Given the description of an element on the screen output the (x, y) to click on. 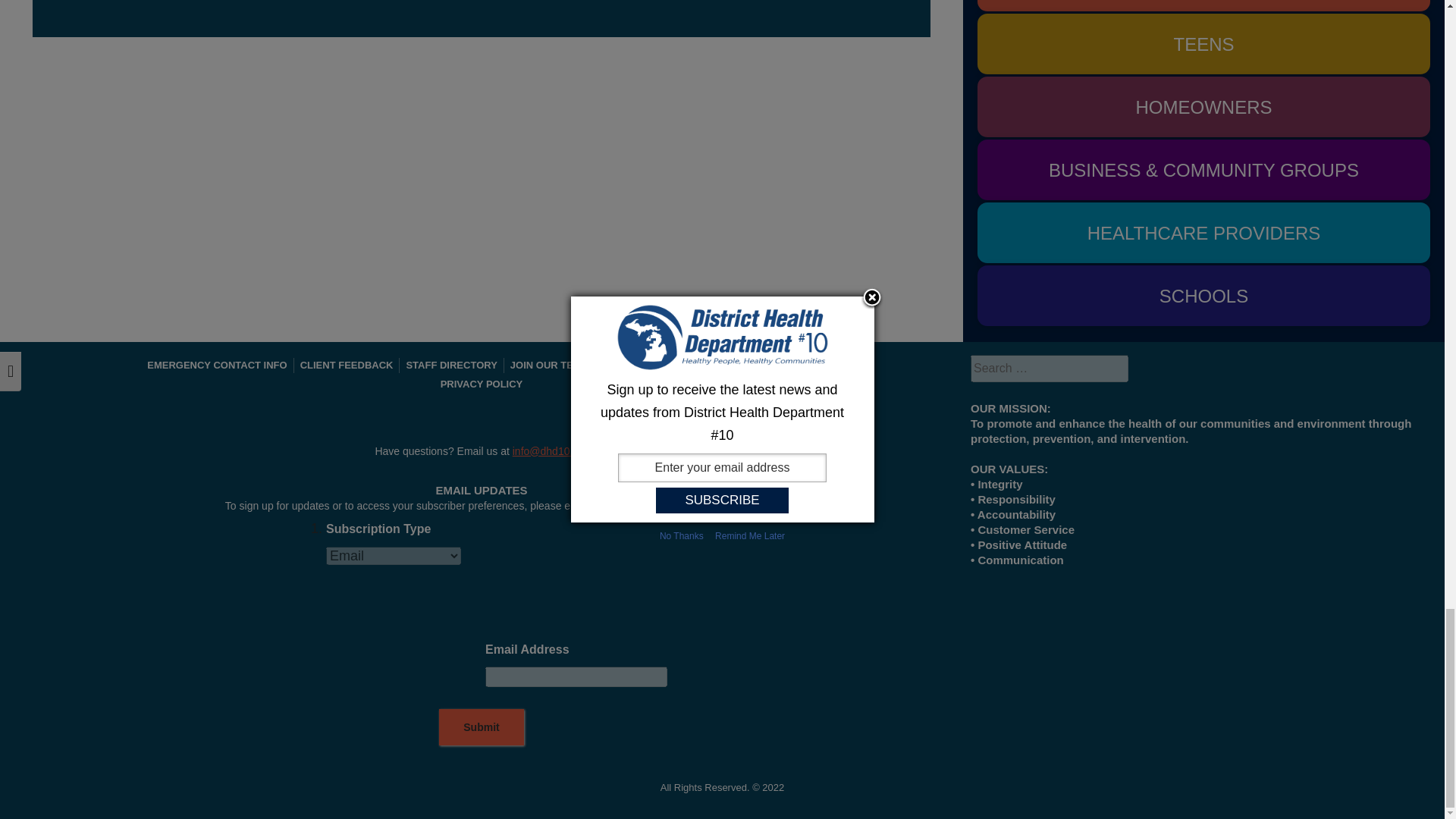
Parents (1202, 5)
Teens (1202, 43)
Submit (480, 727)
Homeowners (1202, 106)
